Given the description of an element on the screen output the (x, y) to click on. 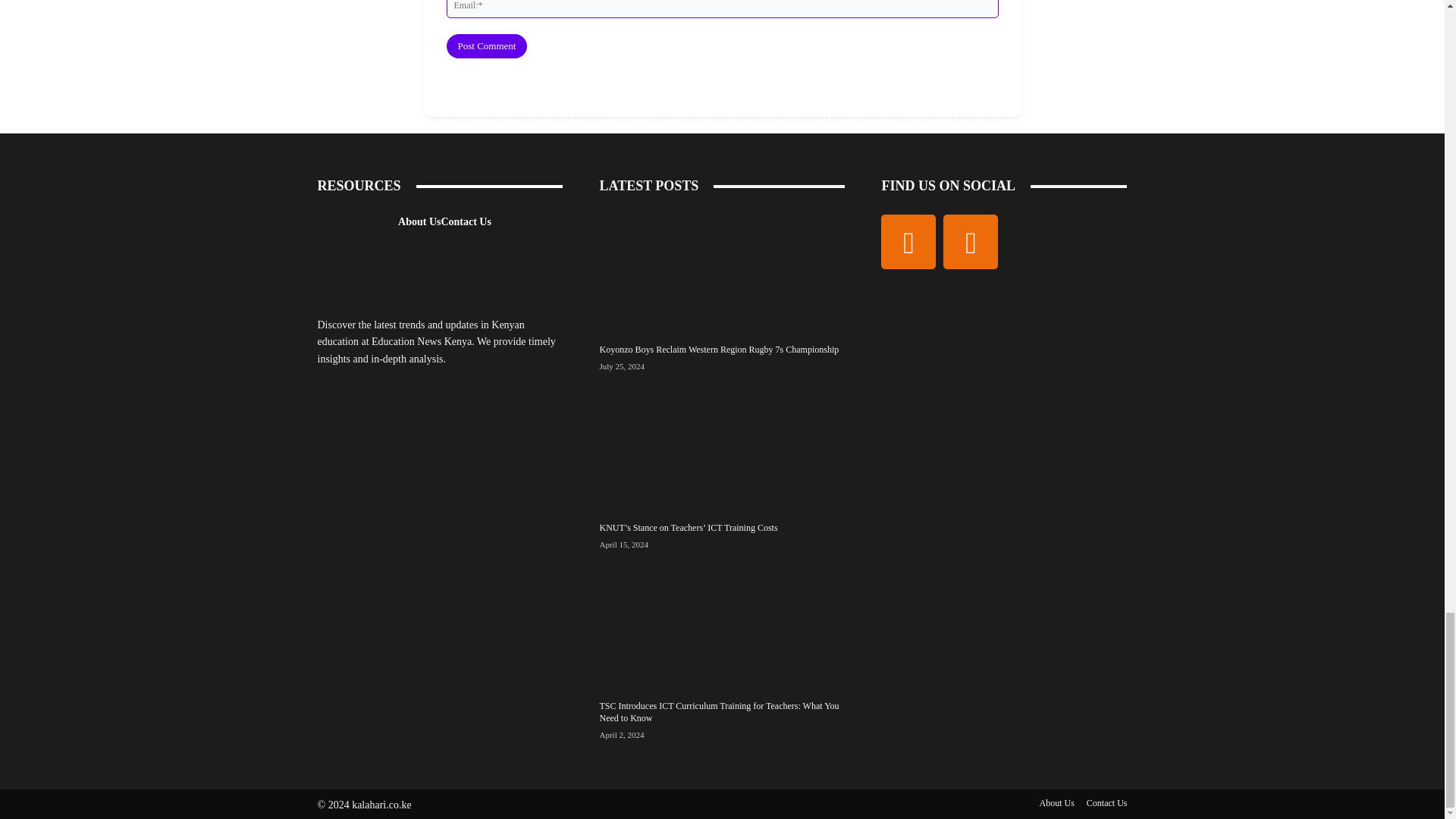
Post Comment (486, 46)
Facebook (908, 241)
Twitter (970, 241)
Koyonzo Boys Reclaim Western Region Rugby 7s Championship (718, 348)
Koyonzo Boys Reclaim Western Region Rugby 7s Championship (721, 271)
